Given the description of an element on the screen output the (x, y) to click on. 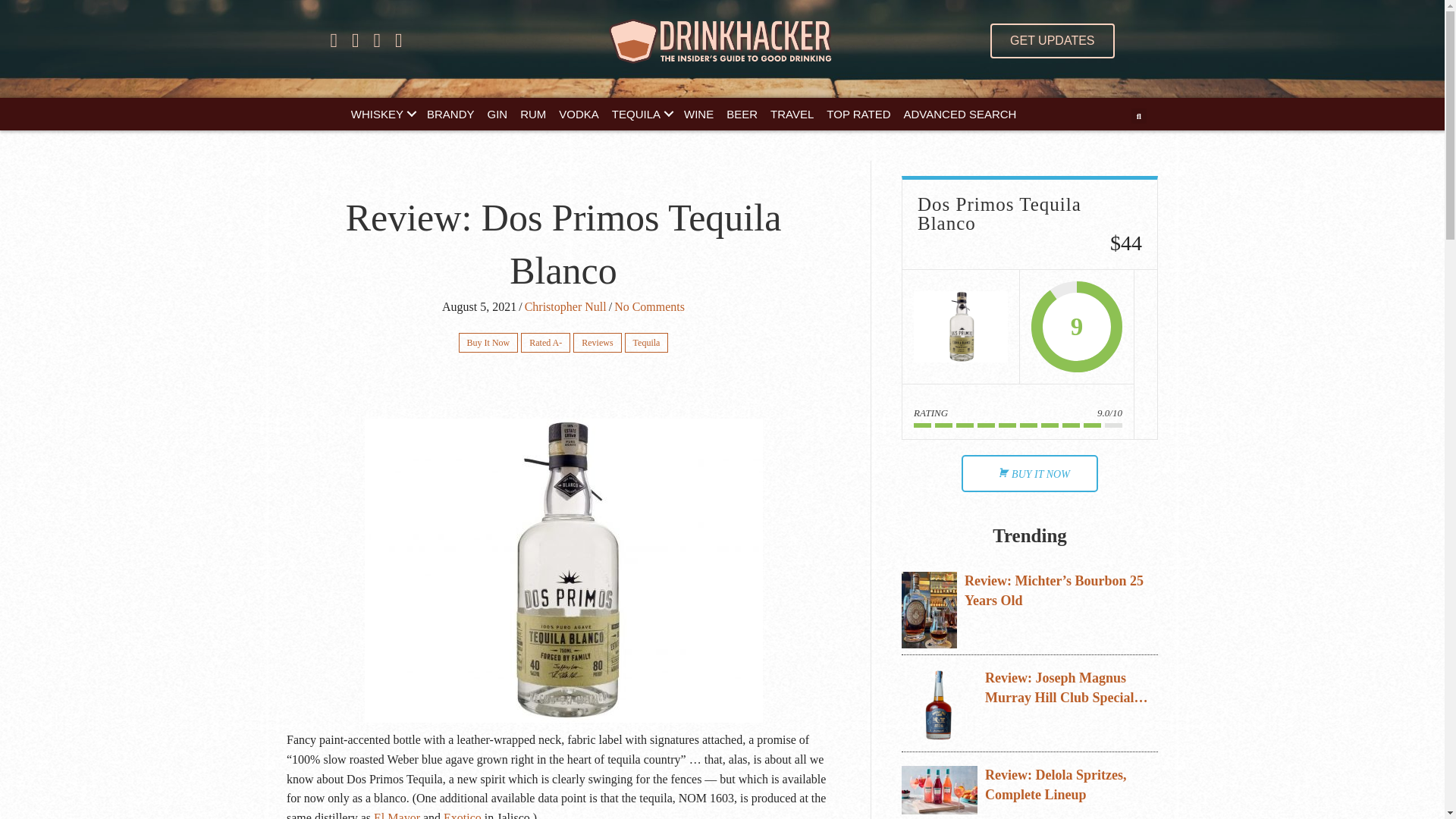
GIN (496, 113)
WHISKEY (382, 113)
drinkhacker-logo-pinktag-transparent (721, 40)
TRAVEL (791, 113)
TEQUILA (641, 113)
WINE (698, 113)
RUM (532, 113)
Click Here (1051, 40)
BEER (741, 113)
BRANDY (450, 113)
